Given the description of an element on the screen output the (x, y) to click on. 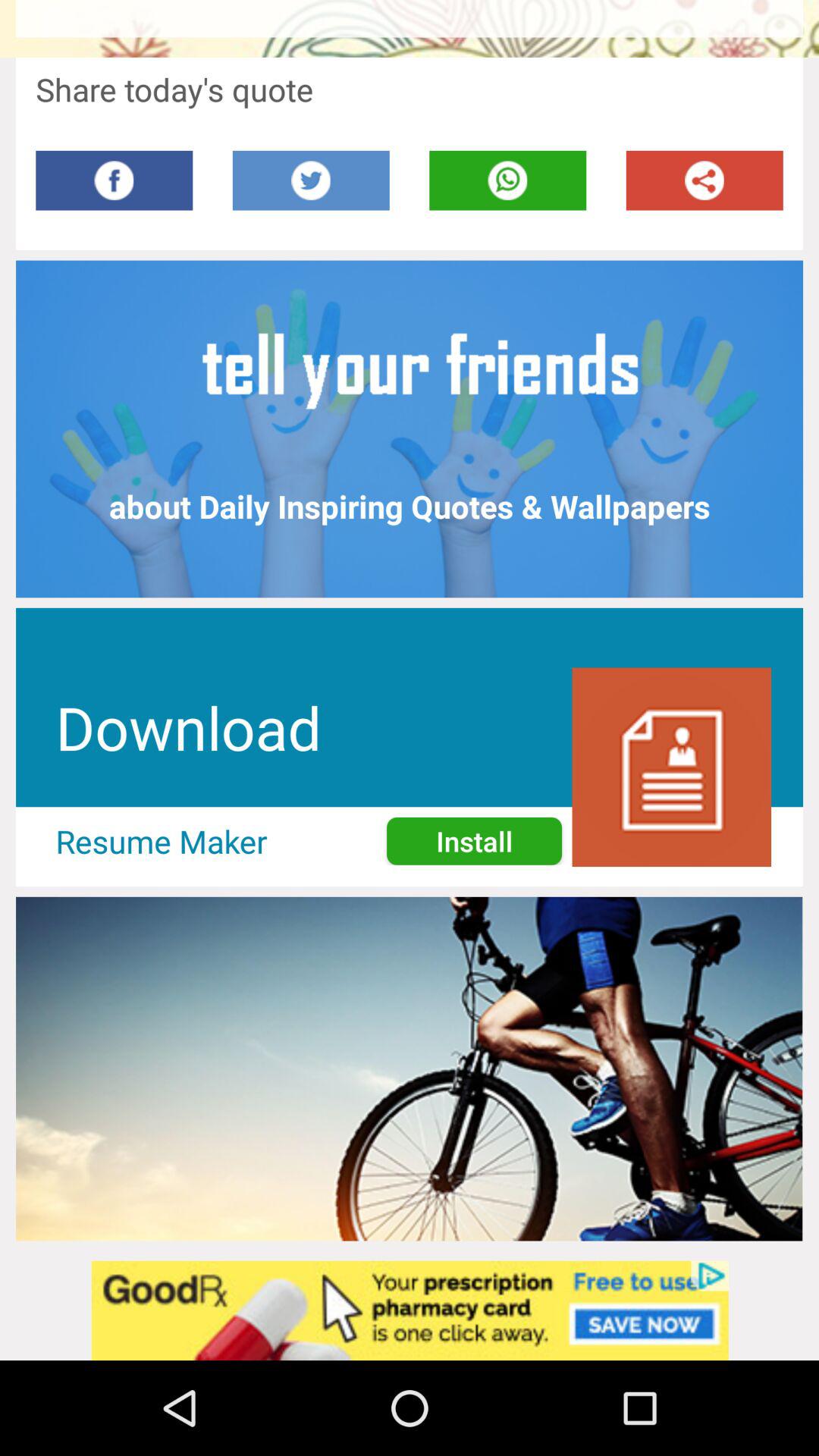
advertisement (409, 1310)
